Given the description of an element on the screen output the (x, y) to click on. 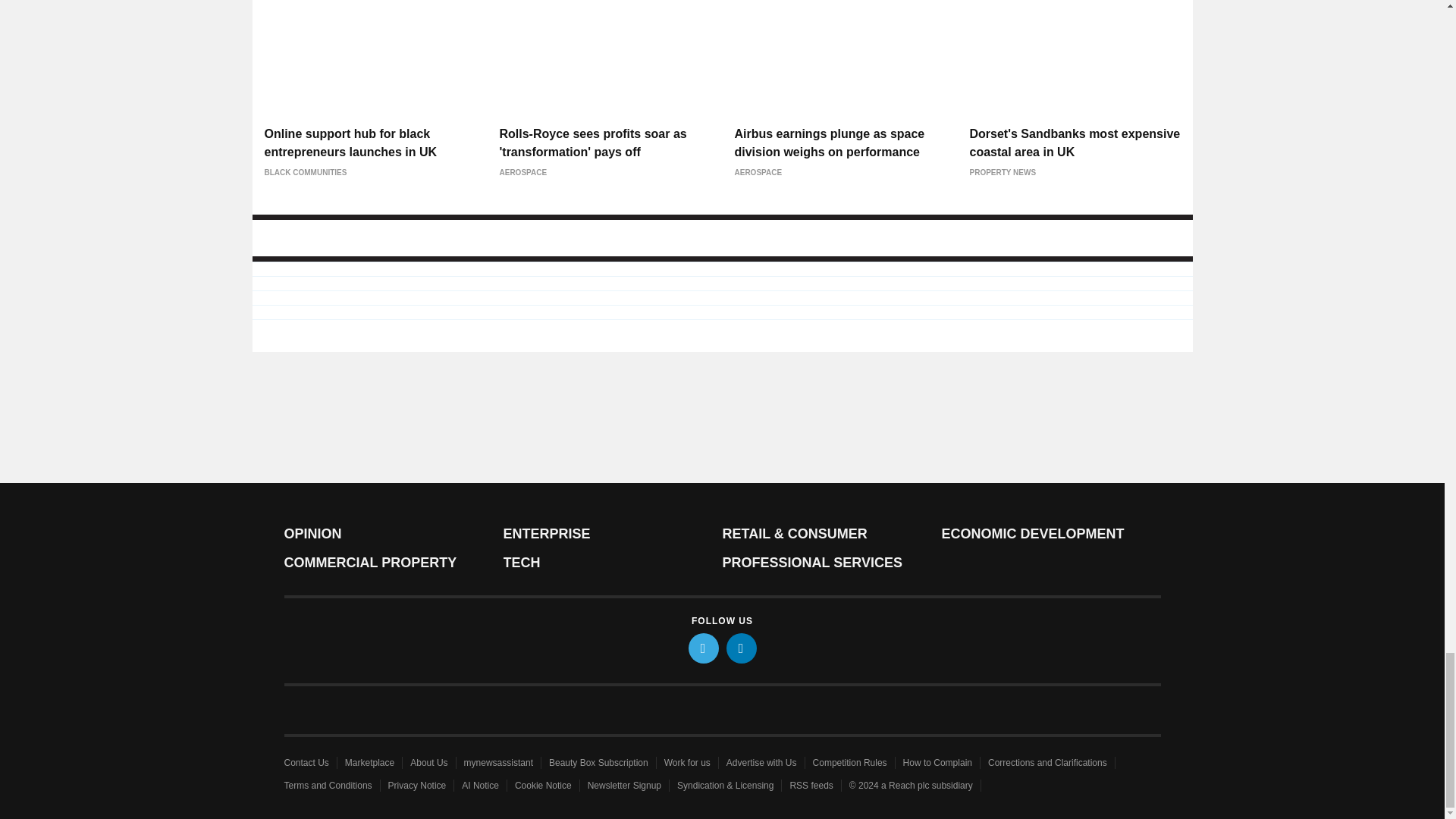
twitter (703, 648)
linkedin (741, 648)
